Given the description of an element on the screen output the (x, y) to click on. 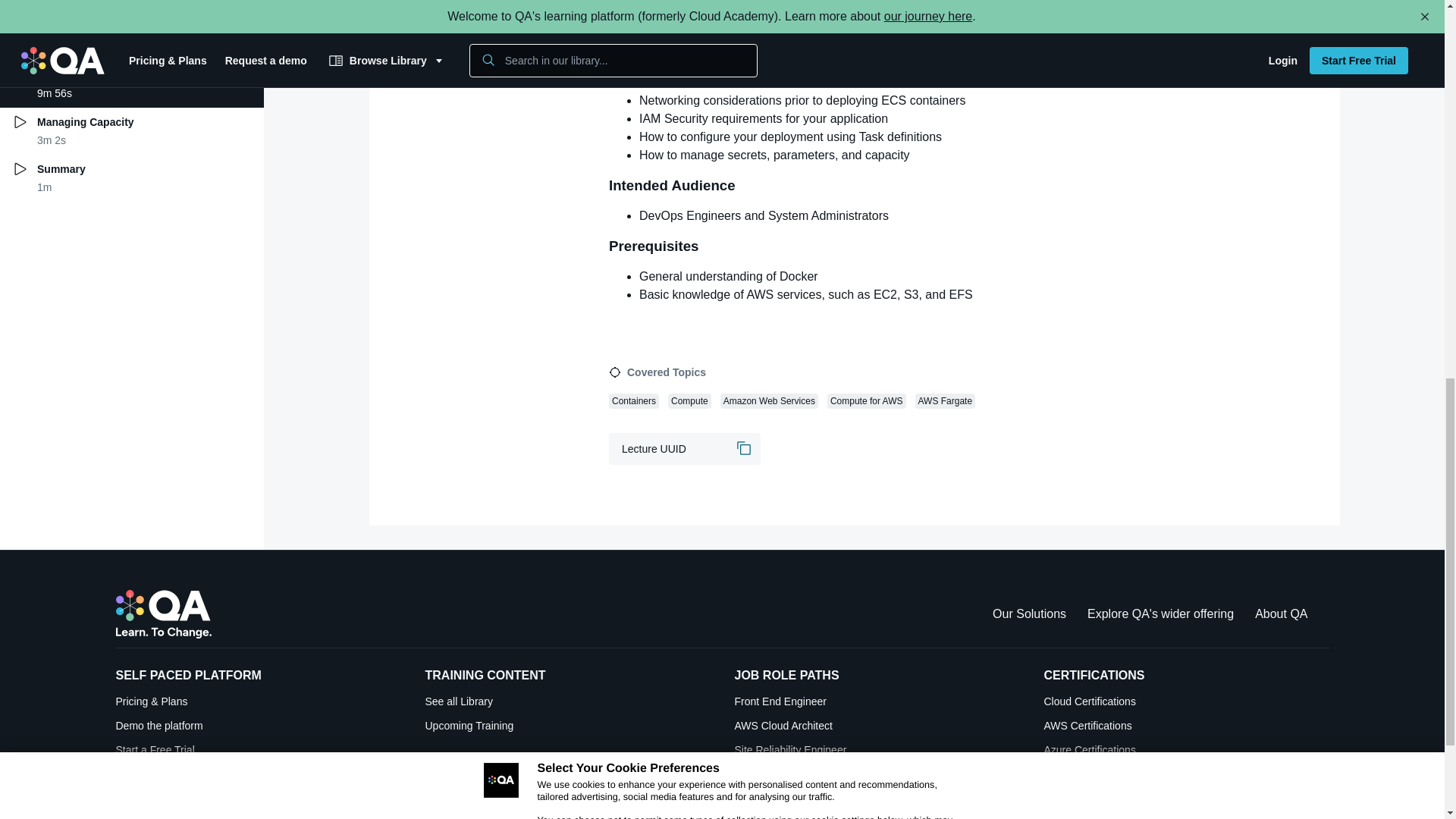
Allow selection (748, 38)
Accept all cookies (894, 38)
Show details (905, 62)
Use necessary cookies only (604, 38)
Lecture UUID (684, 449)
